Given the description of an element on the screen output the (x, y) to click on. 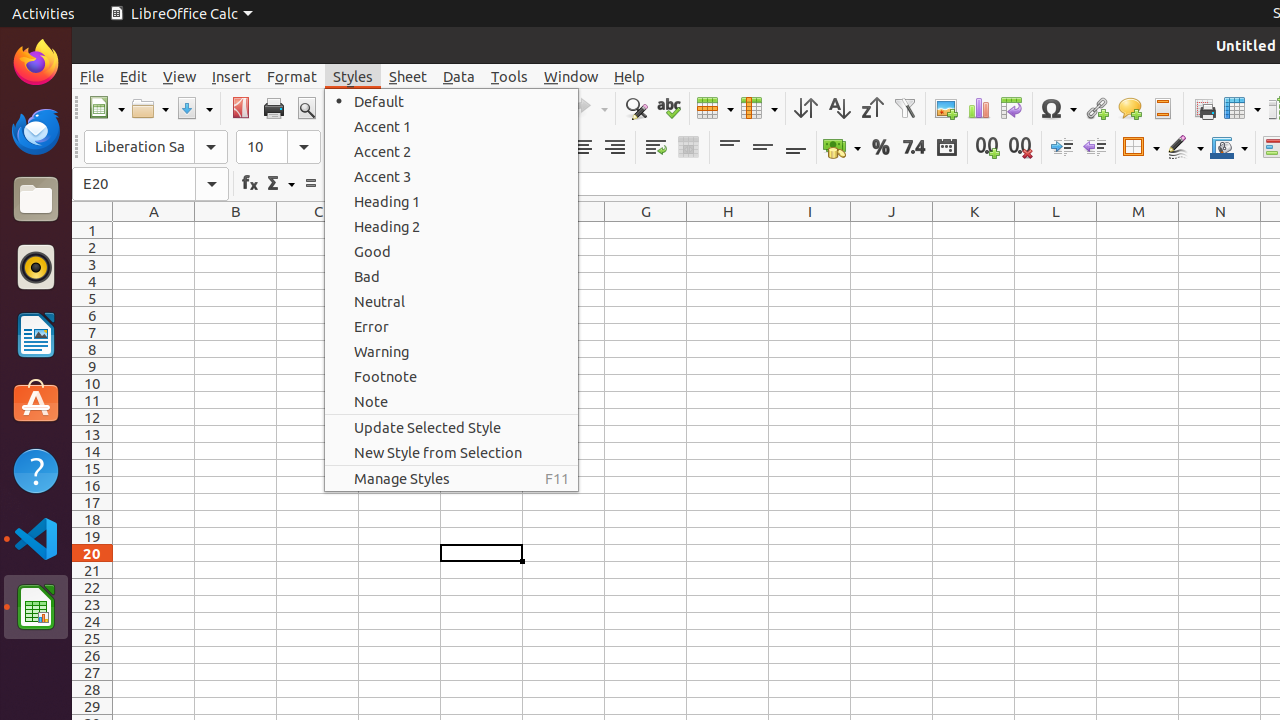
Date Element type: push-button (946, 147)
Help Element type: push-button (36, 470)
Good Element type: radio-menu-item (451, 251)
Update Selected Style Element type: menu-item (451, 427)
Delete Decimal Place Element type: push-button (1020, 147)
